Given the description of an element on the screen output the (x, y) to click on. 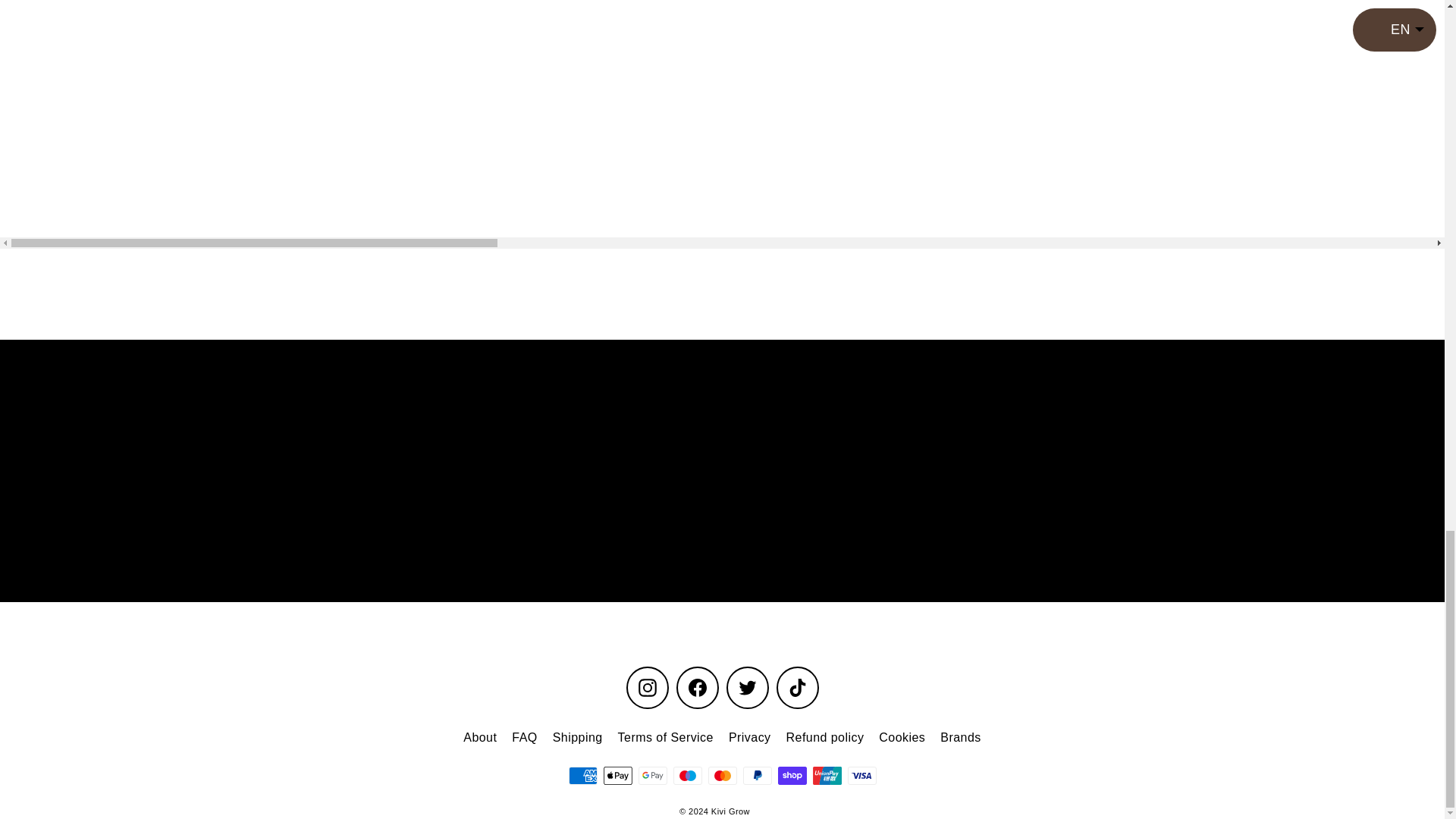
Apple Pay (617, 775)
Kivi Grow on TikTok (797, 687)
PayPal (756, 775)
Kivi Grow on Instagram (647, 687)
Union Pay (826, 775)
American Express (582, 775)
Visa (861, 775)
Mastercard (721, 775)
Kivi Grow on Facebook (698, 687)
Maestro (686, 775)
Shop Pay (791, 775)
Google Pay (652, 775)
Kivi Grow on Twitter (747, 687)
